Given the description of an element on the screen output the (x, y) to click on. 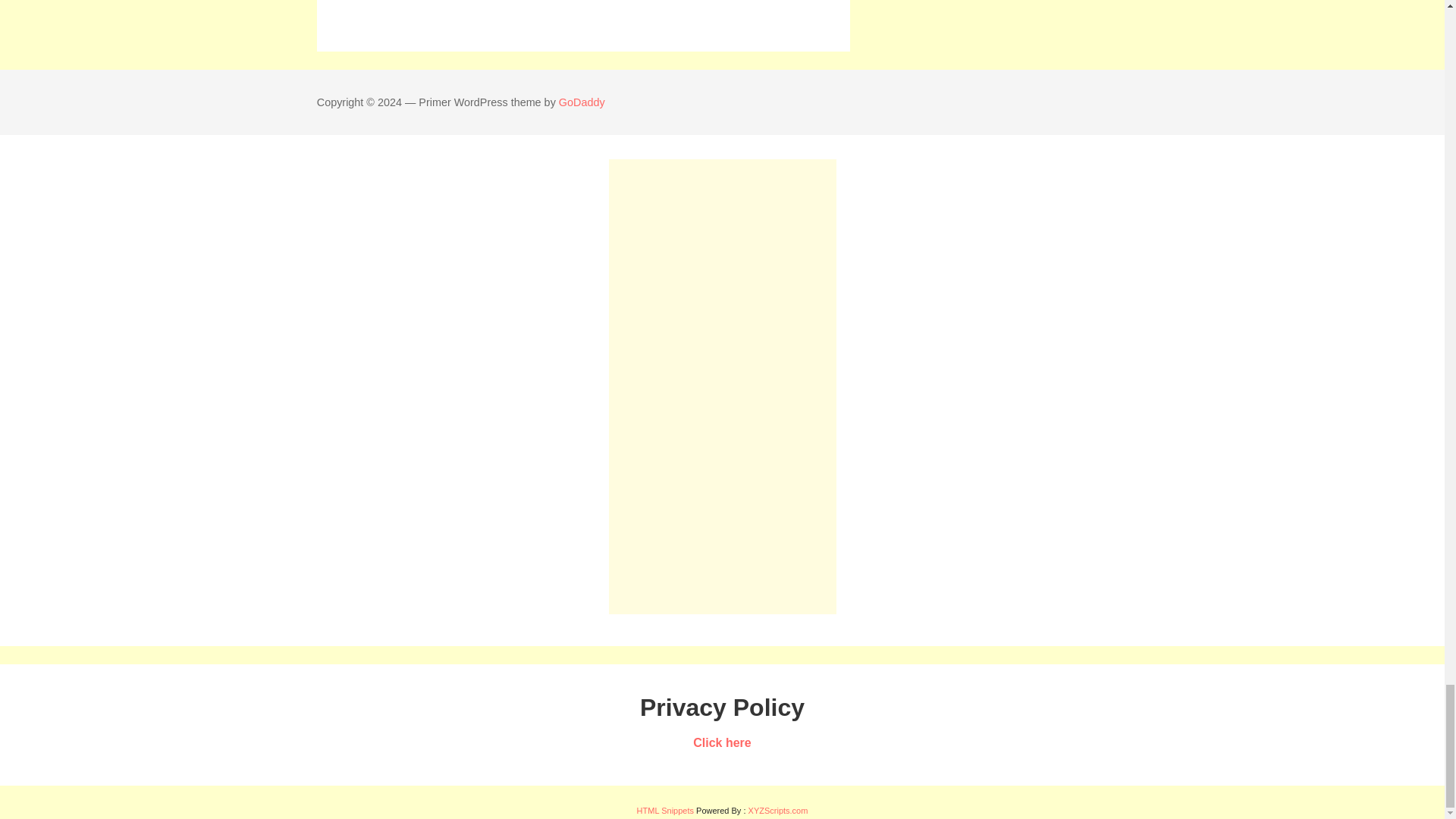
Insert HTML Snippet Wordpress Plugin (665, 809)
